Given the description of an element on the screen output the (x, y) to click on. 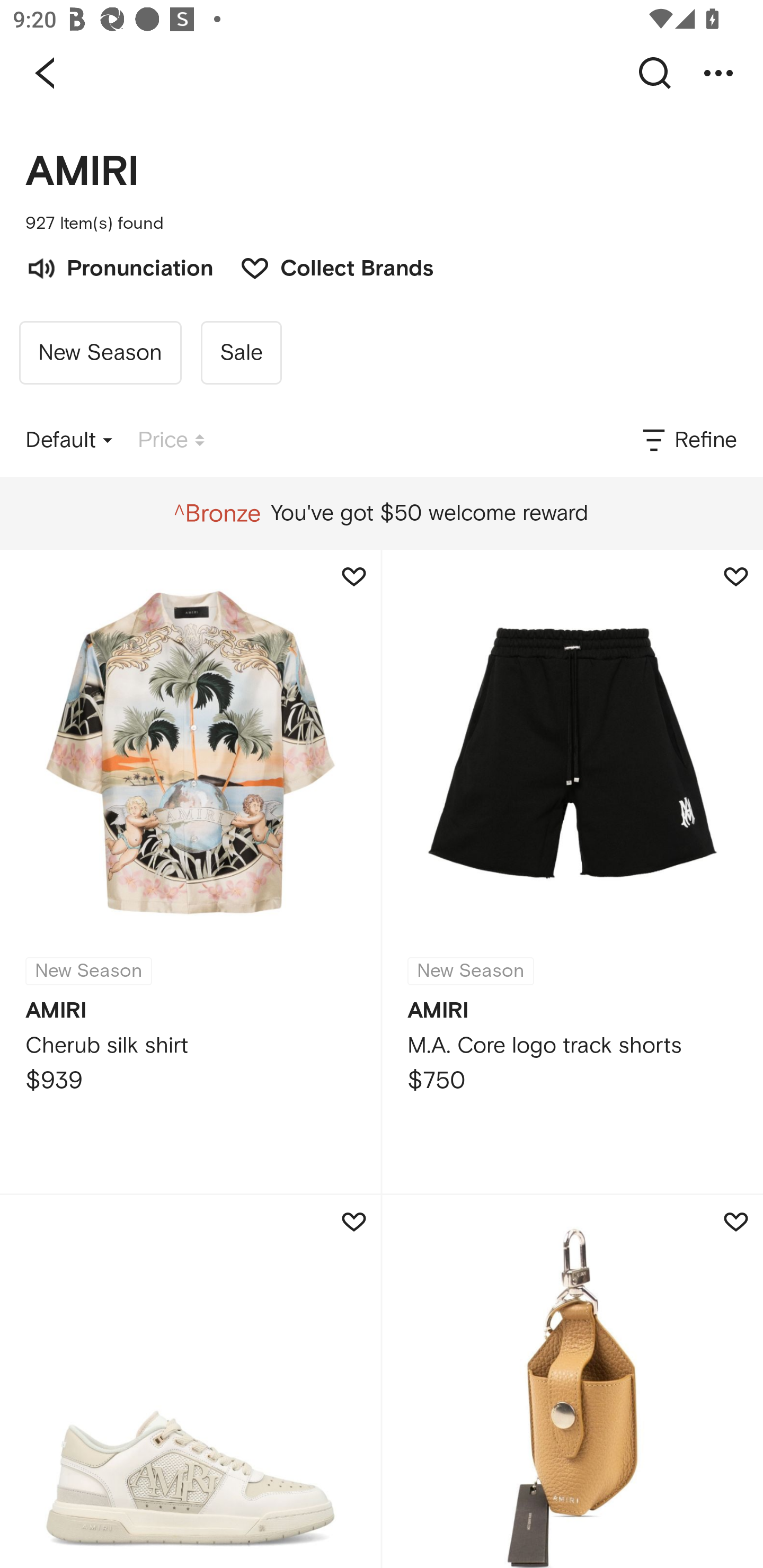
Pronunciation (119, 266)
Collect Brands (327, 266)
New Season (100, 352)
Sale (240, 352)
Default (68, 440)
Price (171, 440)
Refine (688, 440)
You've got $50 welcome reward (381, 513)
New Season AMIRI Cherub silk shirt $939 (190, 871)
New Season AMIRI M.A. Core logo track shorts $750 (572, 871)
